Given the description of an element on the screen output the (x, y) to click on. 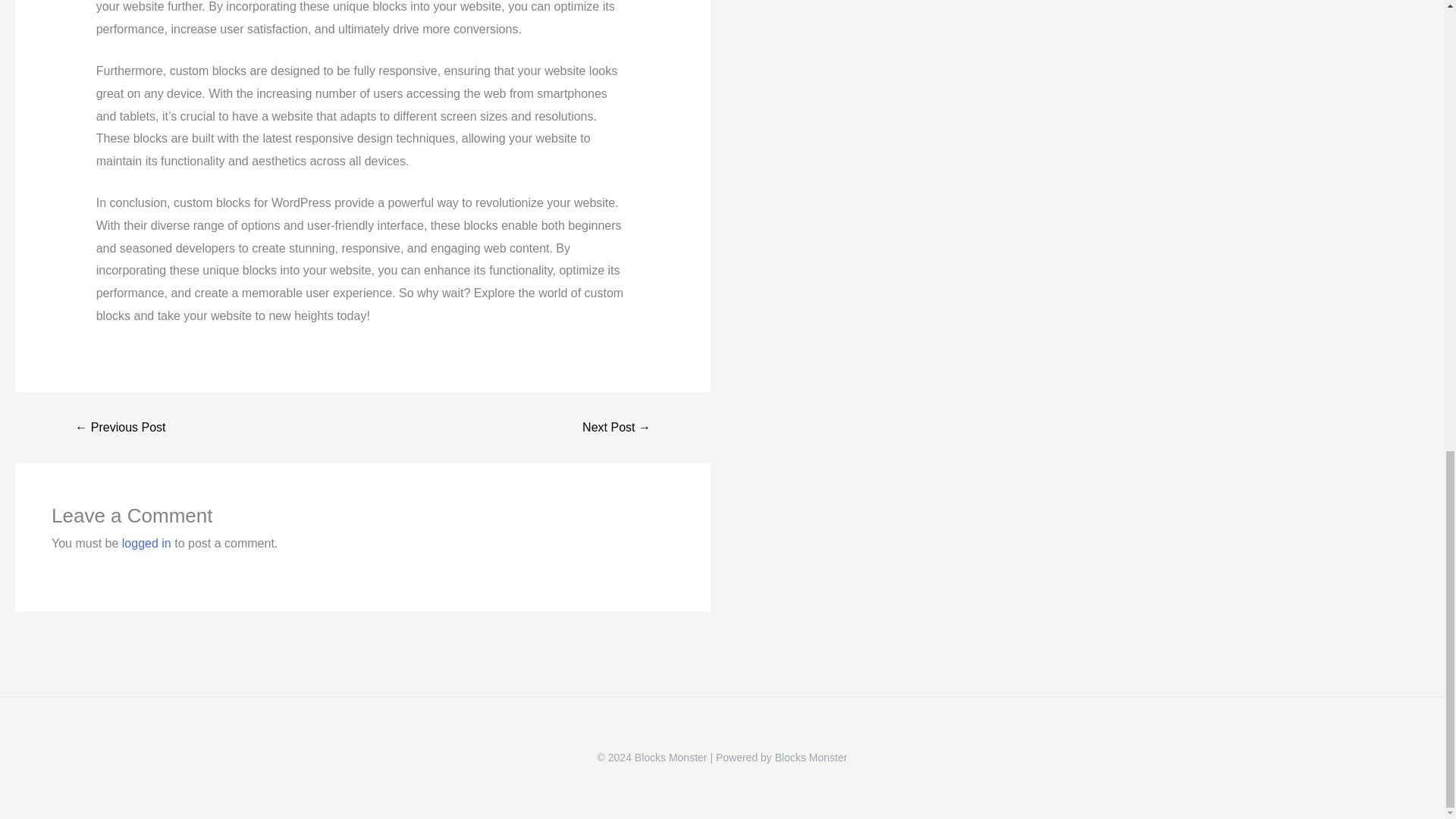
Exploring Advanced Block Design with Elementor (119, 427)
Customizing Elementor Blocks: Tips and Tricks (616, 427)
logged in (146, 543)
